Given the description of an element on the screen output the (x, y) to click on. 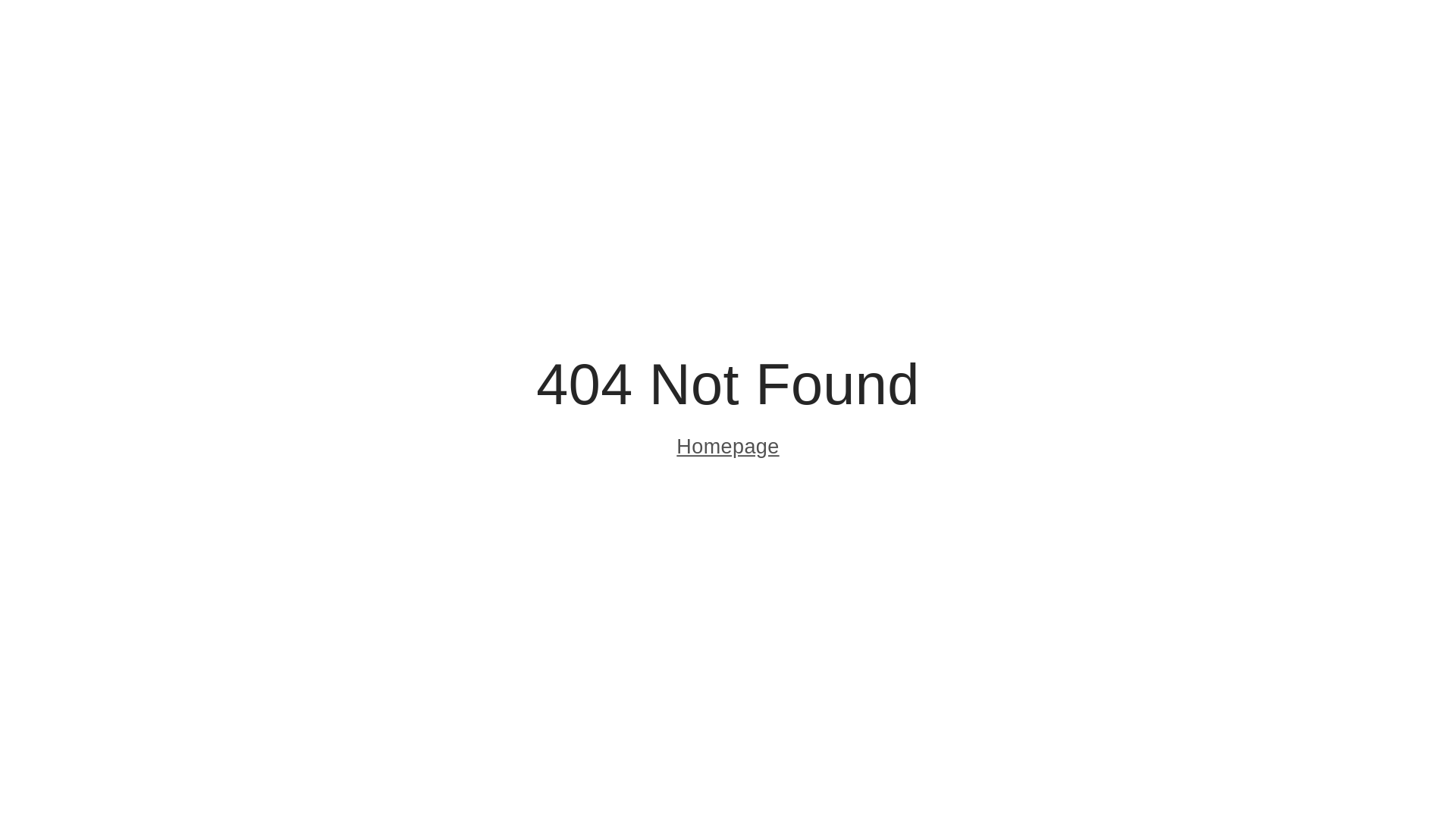
Homepage Element type: text (727, 448)
